Given the description of an element on the screen output the (x, y) to click on. 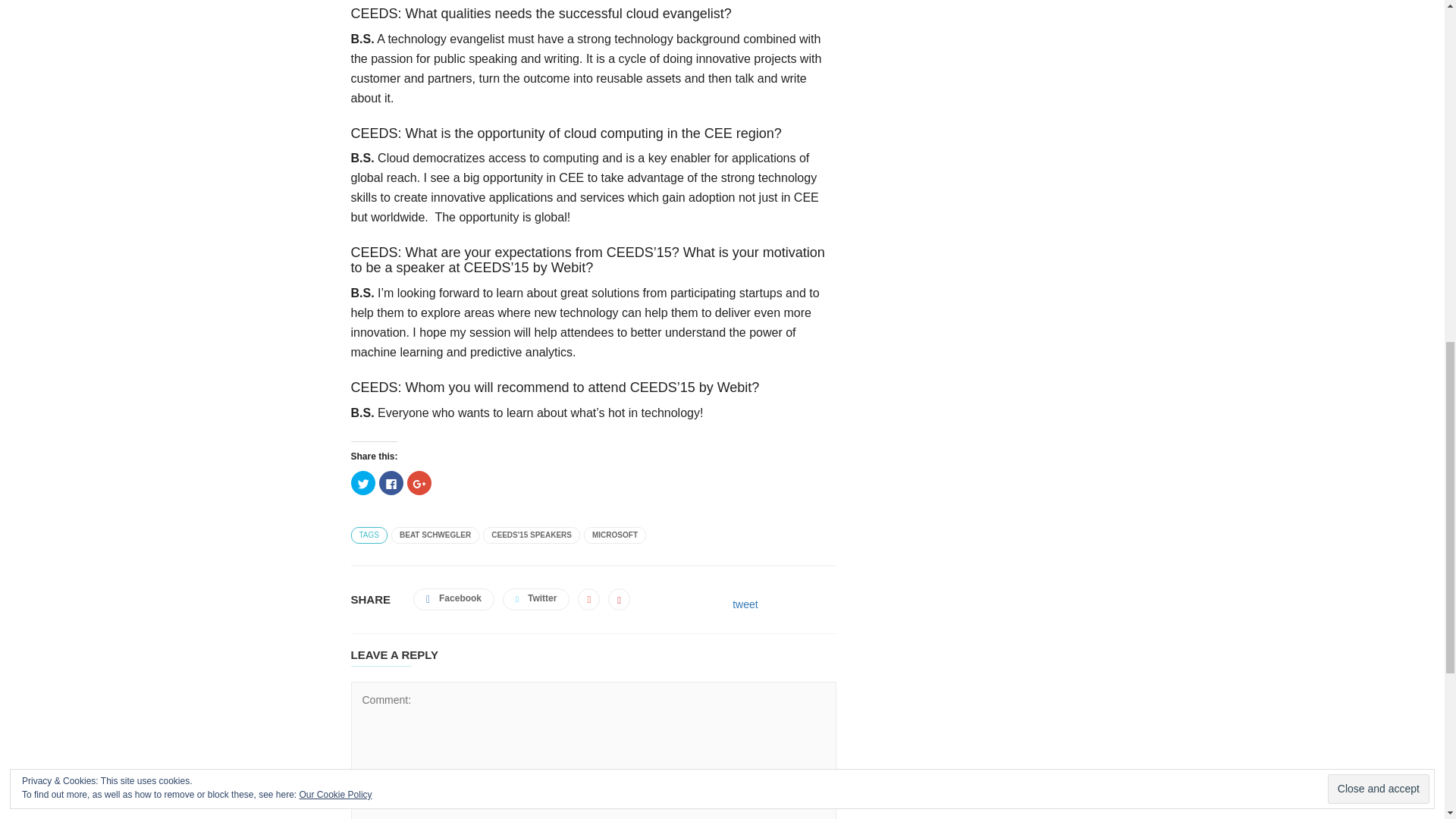
Click to share on Facebook (390, 482)
CEEDS'15 SPEAKERS (531, 535)
MICROSOFT (614, 535)
BEAT SCHWEGLER (435, 535)
Click to share on Twitter (362, 482)
